Given the description of an element on the screen output the (x, y) to click on. 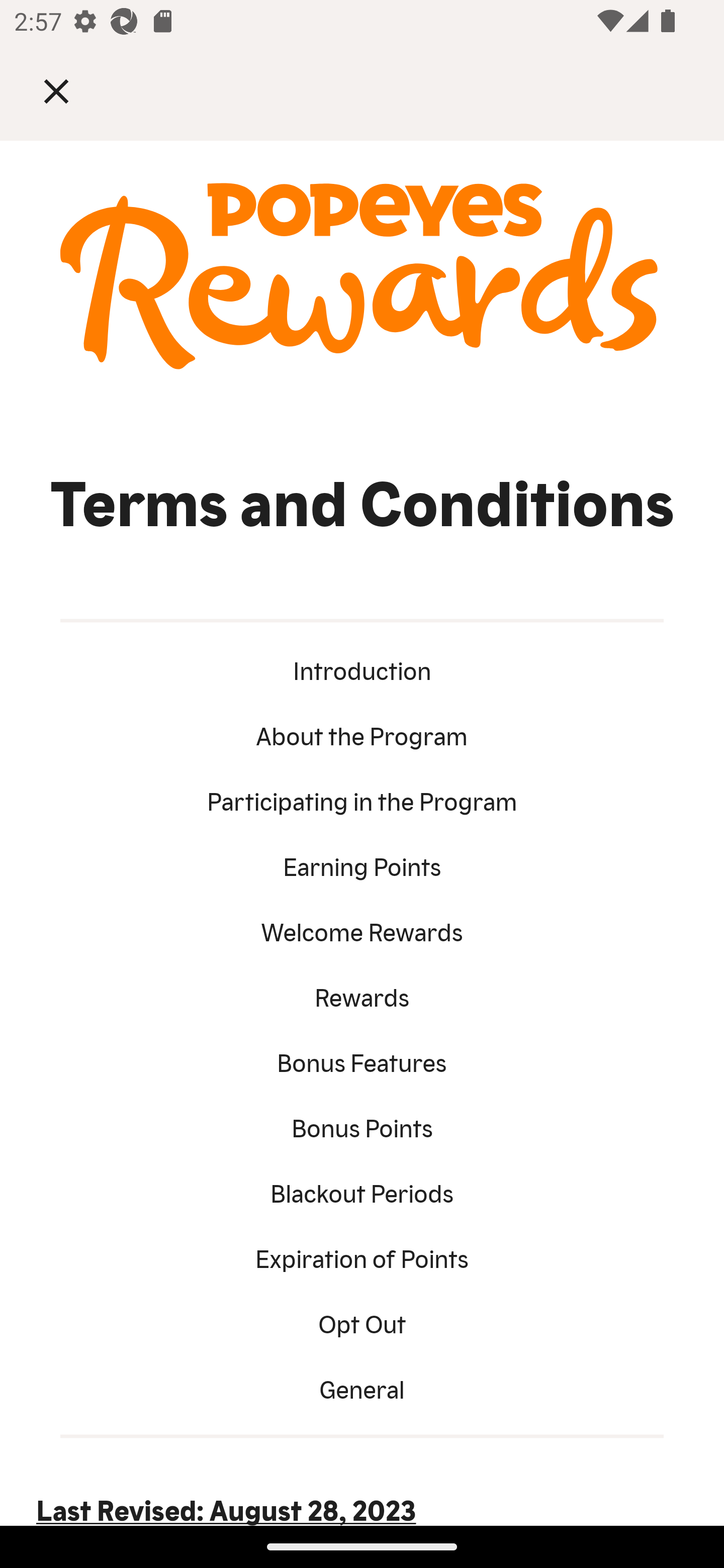
 (70, 90)
Introduction (362, 669)
About the Program (361, 734)
Participating in the Program (362, 799)
Earning Points (362, 865)
Welcome Rewards (361, 930)
Rewards (361, 995)
Bonus Features (361, 1061)
Bonus Points (361, 1126)
Blackout Periods (361, 1191)
Expiration of Points (361, 1257)
Opt Out (362, 1322)
General (361, 1387)
